Given the description of an element on the screen output the (x, y) to click on. 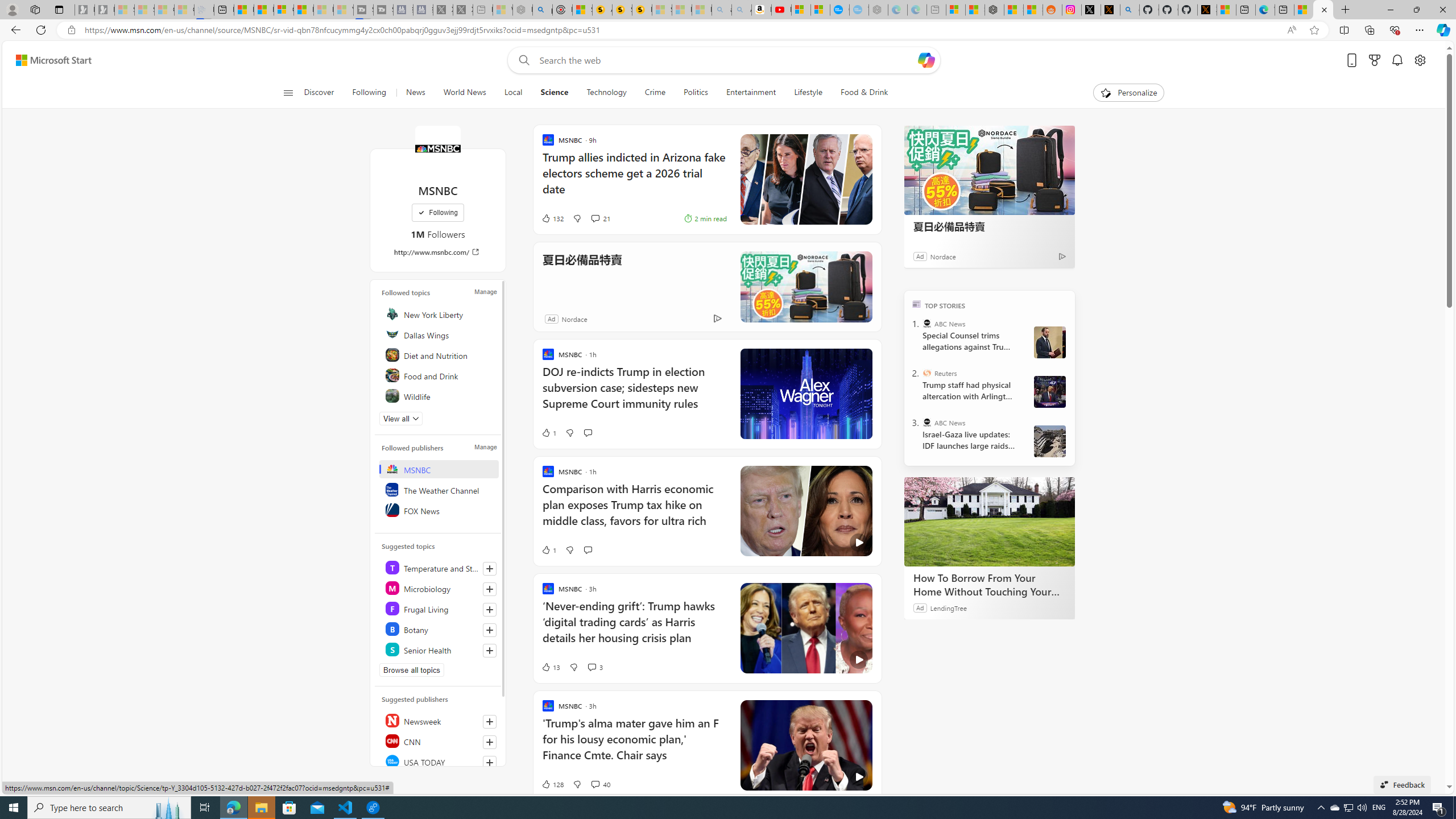
MSNBC - MSN (1323, 9)
LendingTree (948, 607)
Entertainment (750, 92)
Opinion: Op-Ed and Commentary - USA TODAY (839, 9)
Pets (439, 416)
Diet and Nutrition (439, 354)
